Given the description of an element on the screen output the (x, y) to click on. 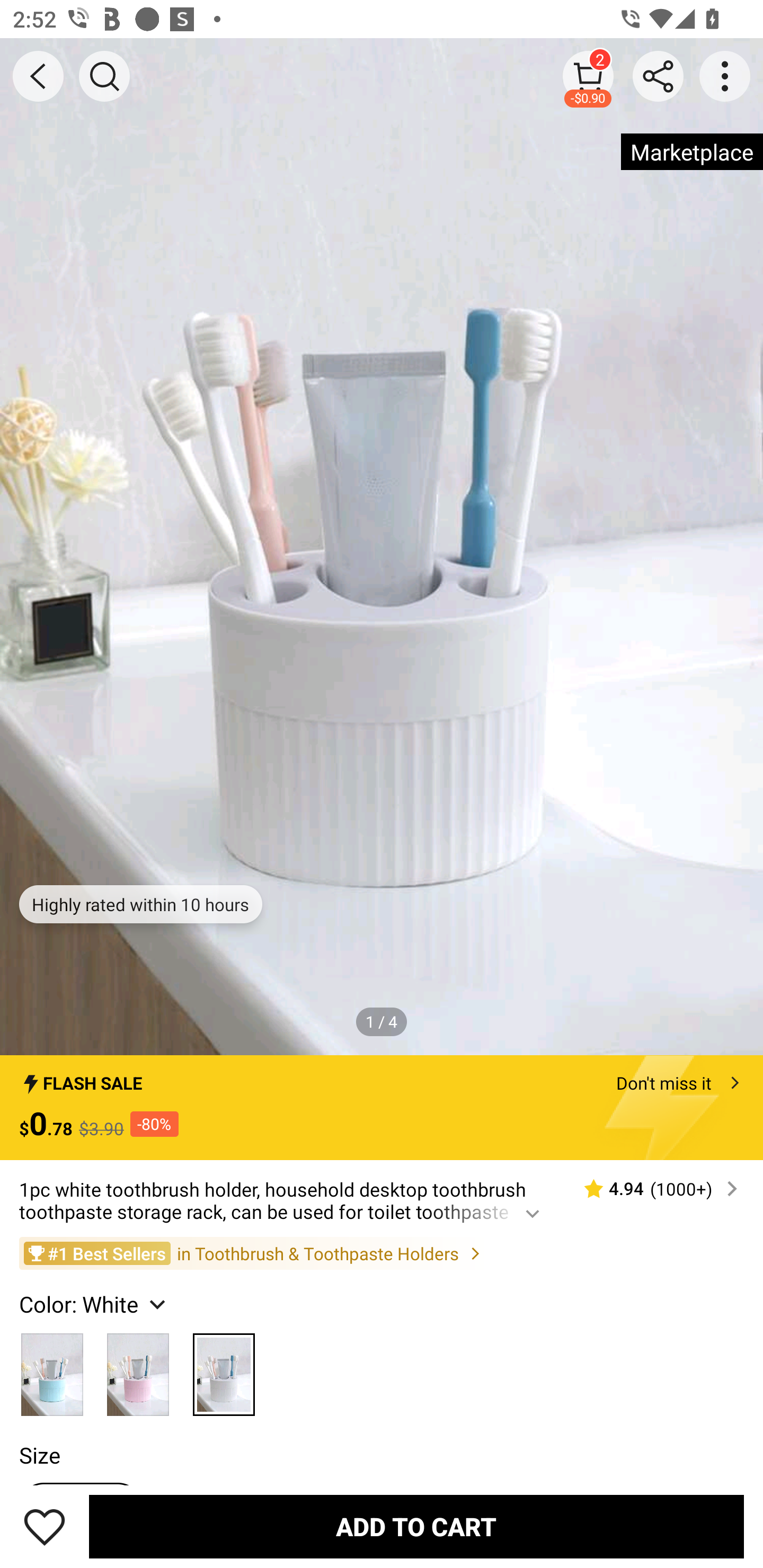
BACK (38, 75)
2 -$0.90 (588, 75)
1 / 4 (381, 1021)
FLASH SALE Don't miss it $0.78 $3.90 -80% (381, 1107)
FLASH SALE Don't miss it (381, 1077)
4.94 (1000‎+) (653, 1188)
#1 Best Sellers in Toothbrush & Toothpaste Holders (381, 1253)
Color: White (94, 1303)
Blue (52, 1369)
Pink (138, 1369)
White (224, 1369)
Size (39, 1454)
ADD TO CART (416, 1526)
Save (44, 1526)
